Given the description of an element on the screen output the (x, y) to click on. 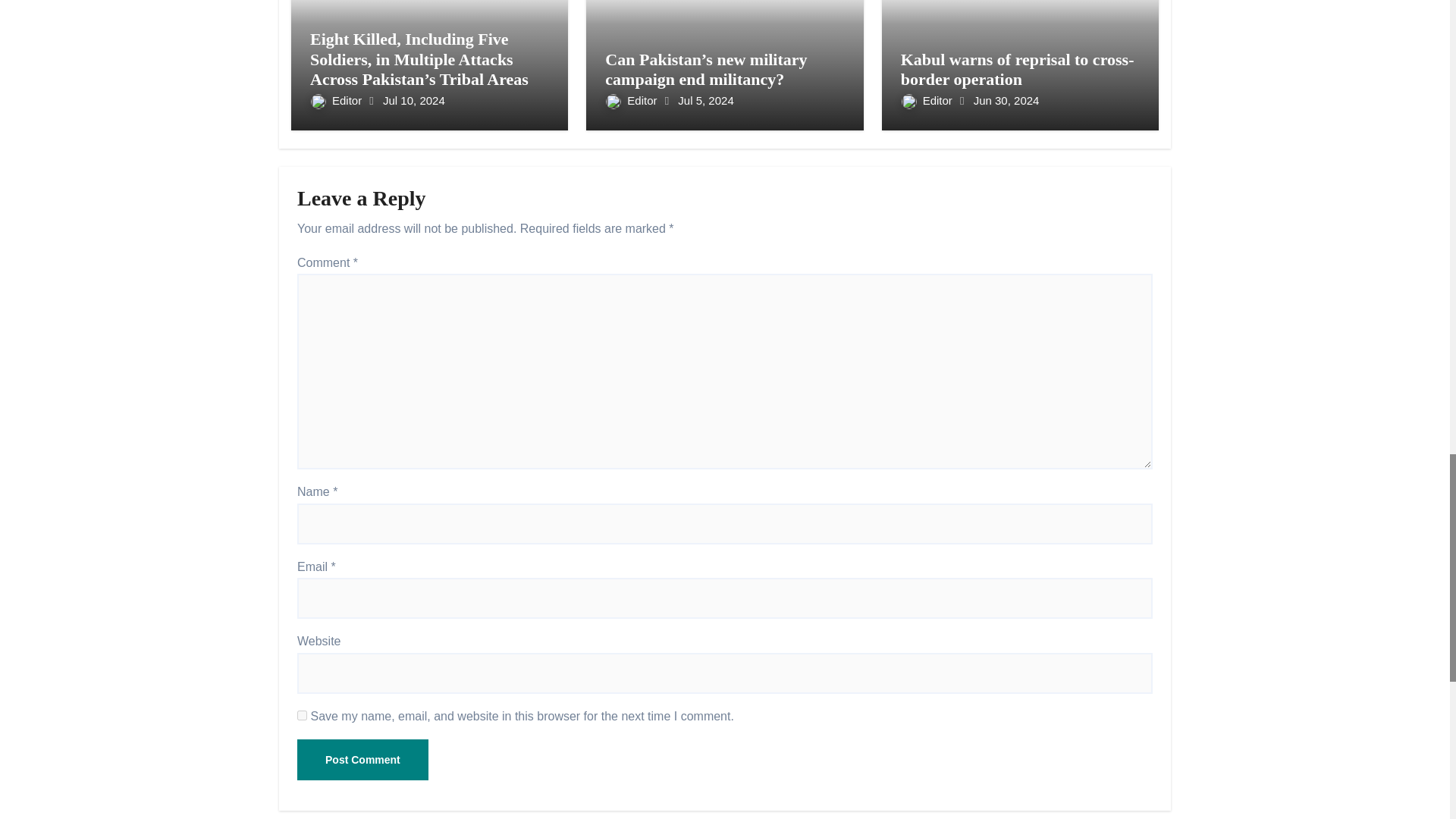
yes (302, 715)
Post Comment (362, 759)
